Given the description of an element on the screen output the (x, y) to click on. 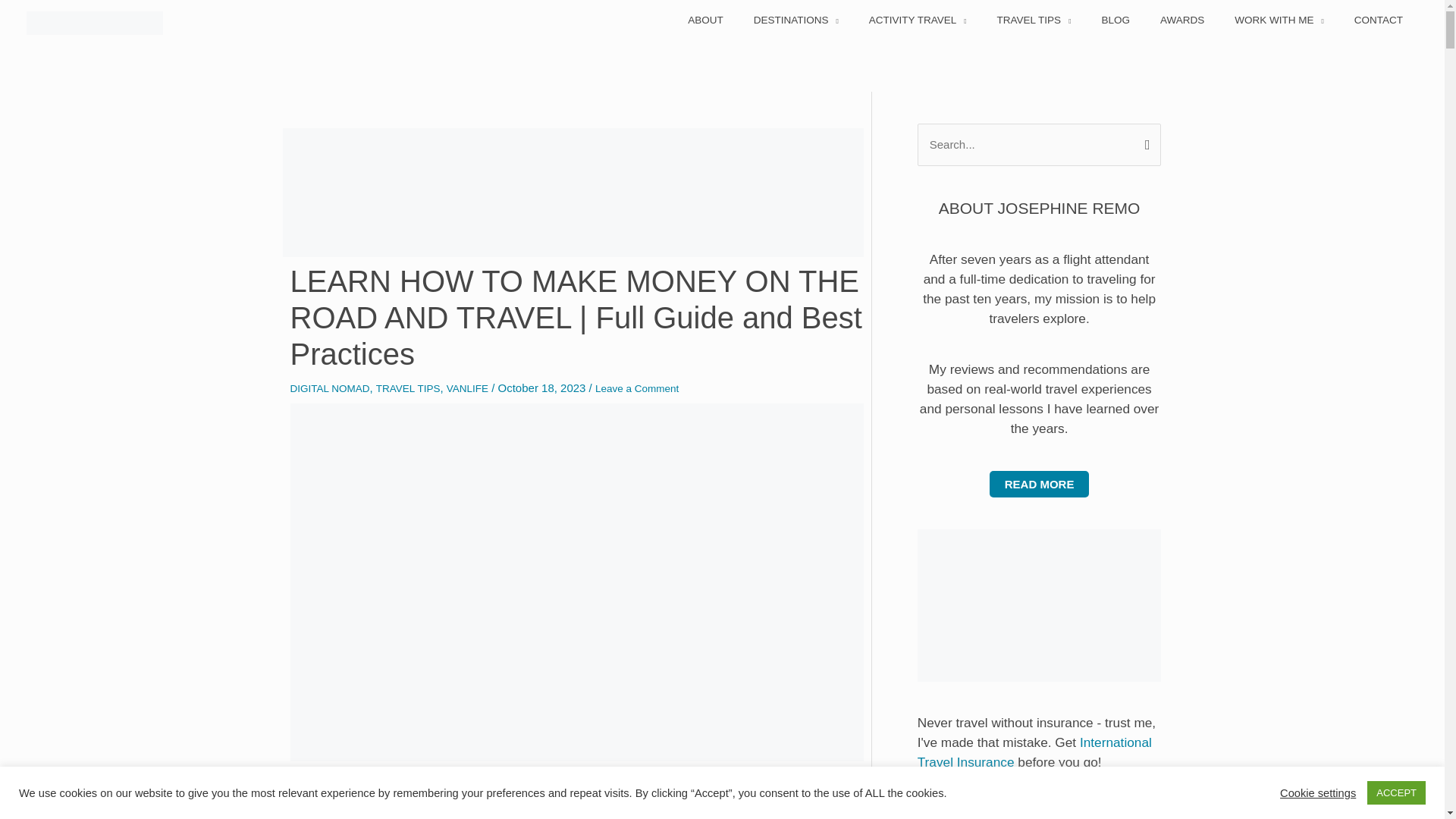
CONTACT (1378, 20)
DESTINATIONS (795, 20)
TRAVEL TIPS (1033, 20)
VANLIFE (466, 388)
ACTIVITY TRAVEL (917, 20)
TRAVEL TIPS (408, 388)
DIGITAL NOMAD (329, 388)
BLOG (1115, 20)
WORK WITH ME (1279, 20)
AWARDS (1182, 20)
